Given the description of an element on the screen output the (x, y) to click on. 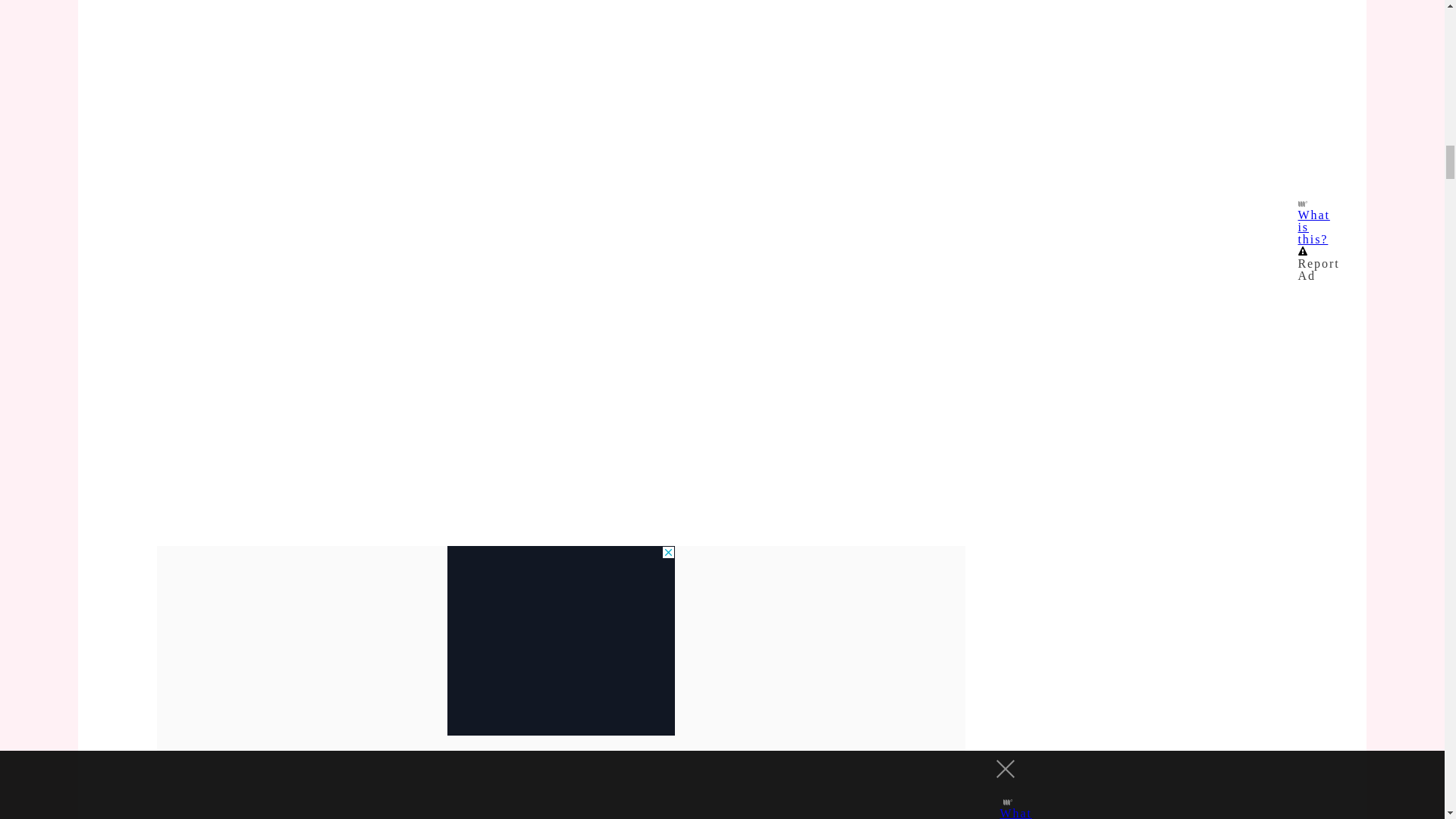
3rd party ad content (560, 640)
